Given the description of an element on the screen output the (x, y) to click on. 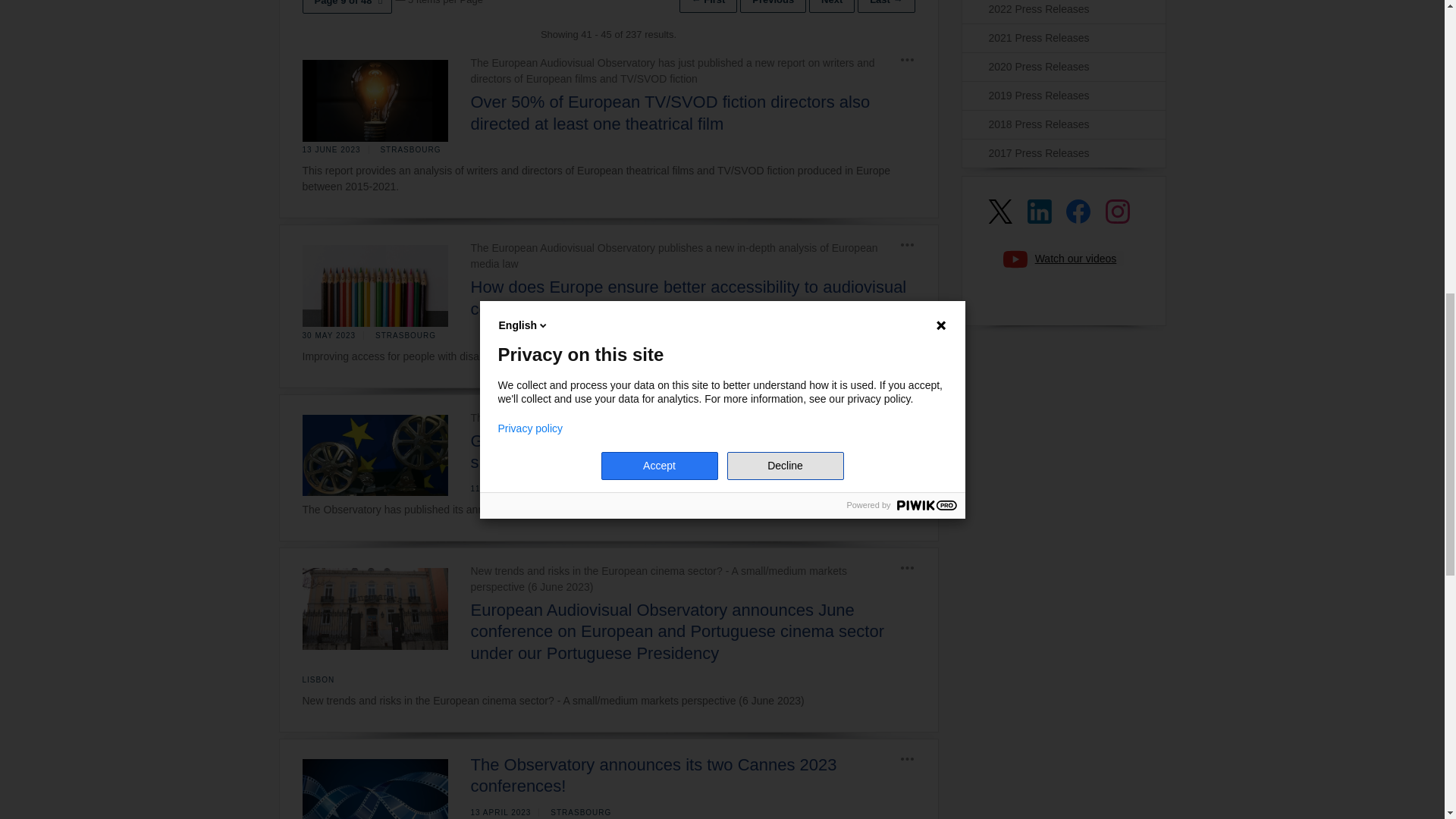
Page 9 of 48 (346, 6)
